Given the description of an element on the screen output the (x, y) to click on. 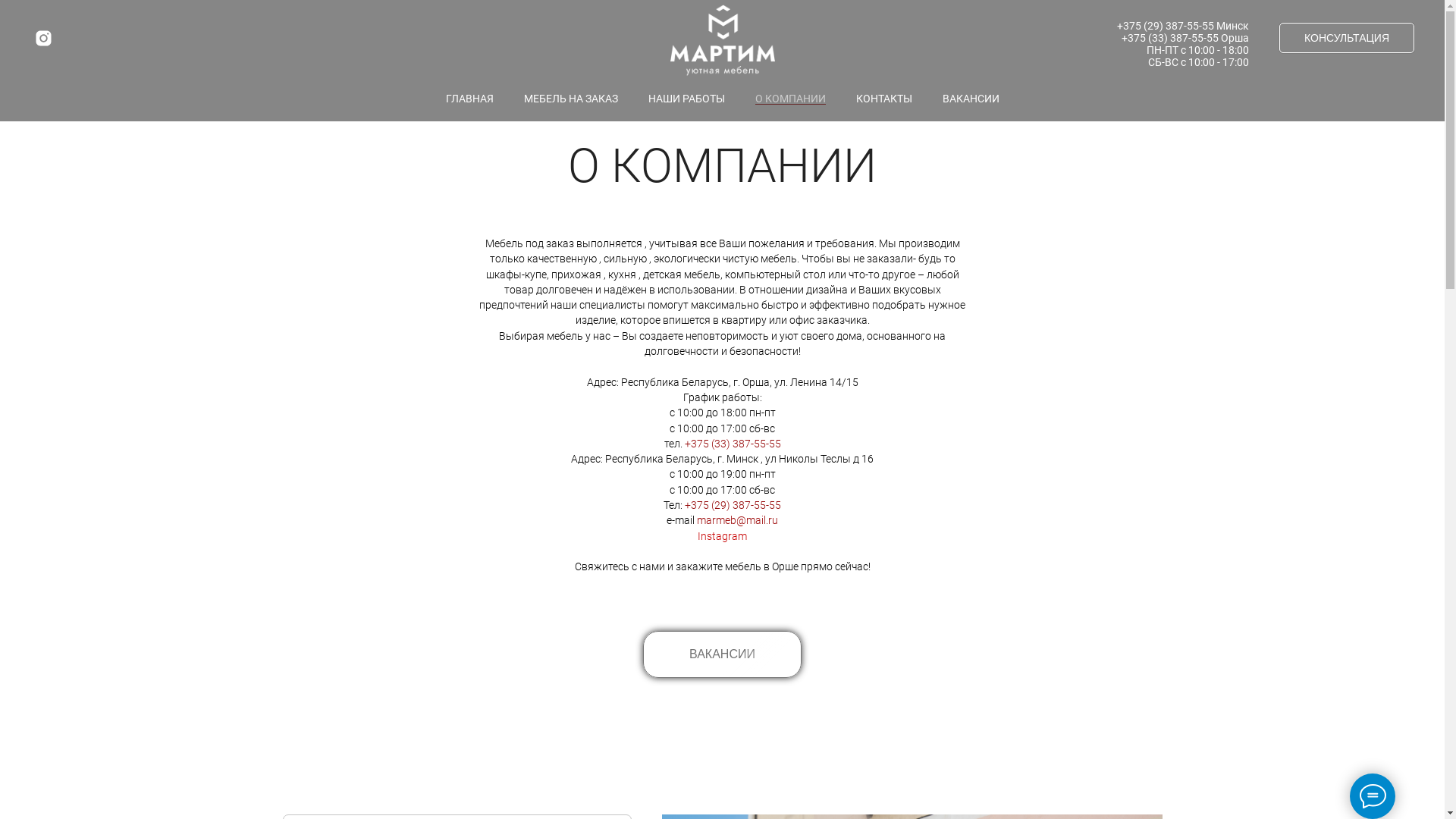
+375 (29) 387-55-55 Element type: text (732, 504)
Instagram Element type: text (721, 536)
Instagram Element type: hover (43, 37)
+375 (29) 387-55-55 Element type: text (1165, 25)
marmeb@mail.ru Element type: text (737, 520)
+375 (33) 387-55-55 Element type: text (732, 443)
